Given the description of an element on the screen output the (x, y) to click on. 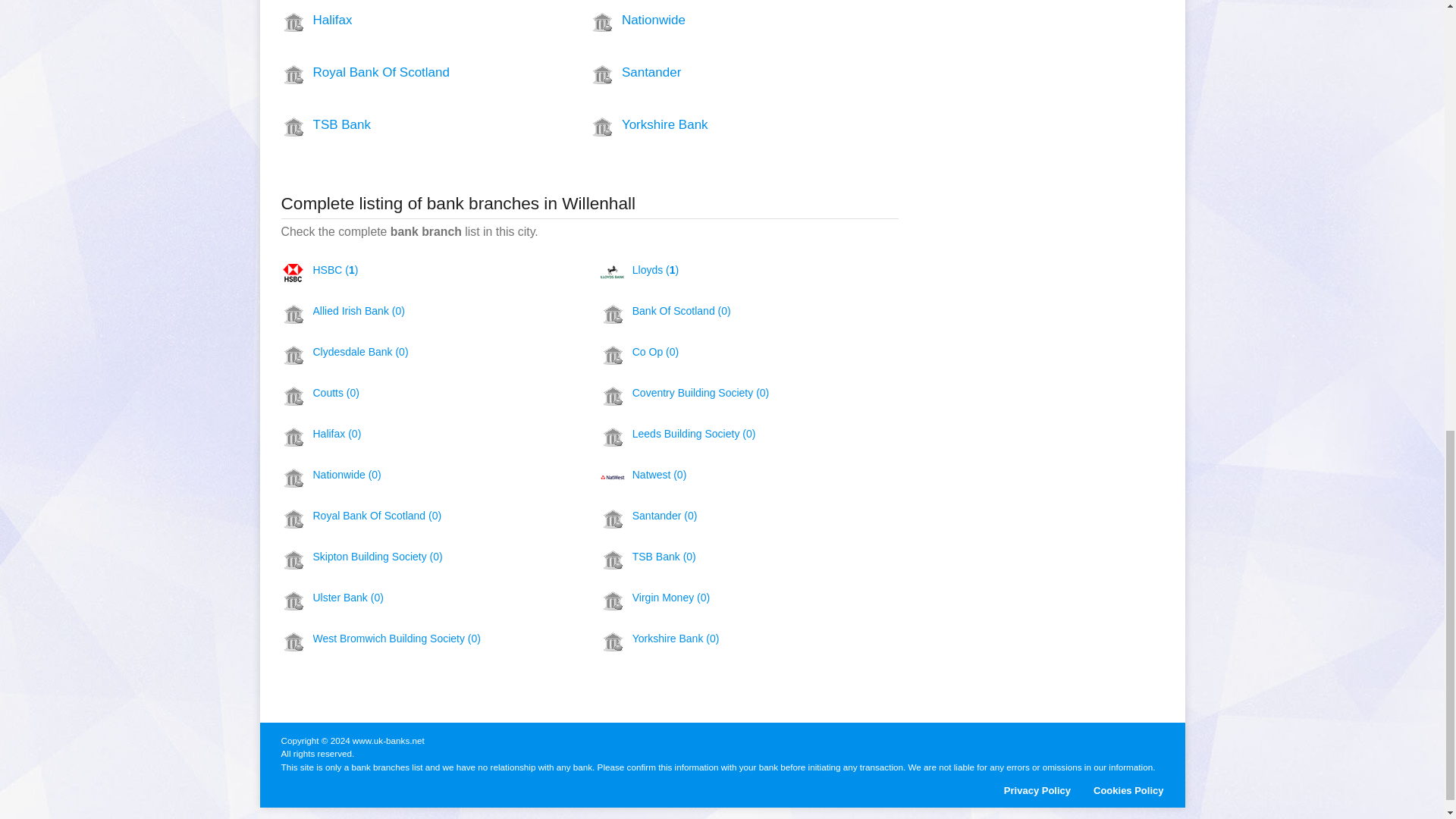
TSB Bank (407, 124)
Halifax (407, 20)
Santander (715, 72)
Nationwide (715, 20)
Royal Bank Of Scotland (407, 72)
Yorkshire Bank (715, 124)
